Given the description of an element on the screen output the (x, y) to click on. 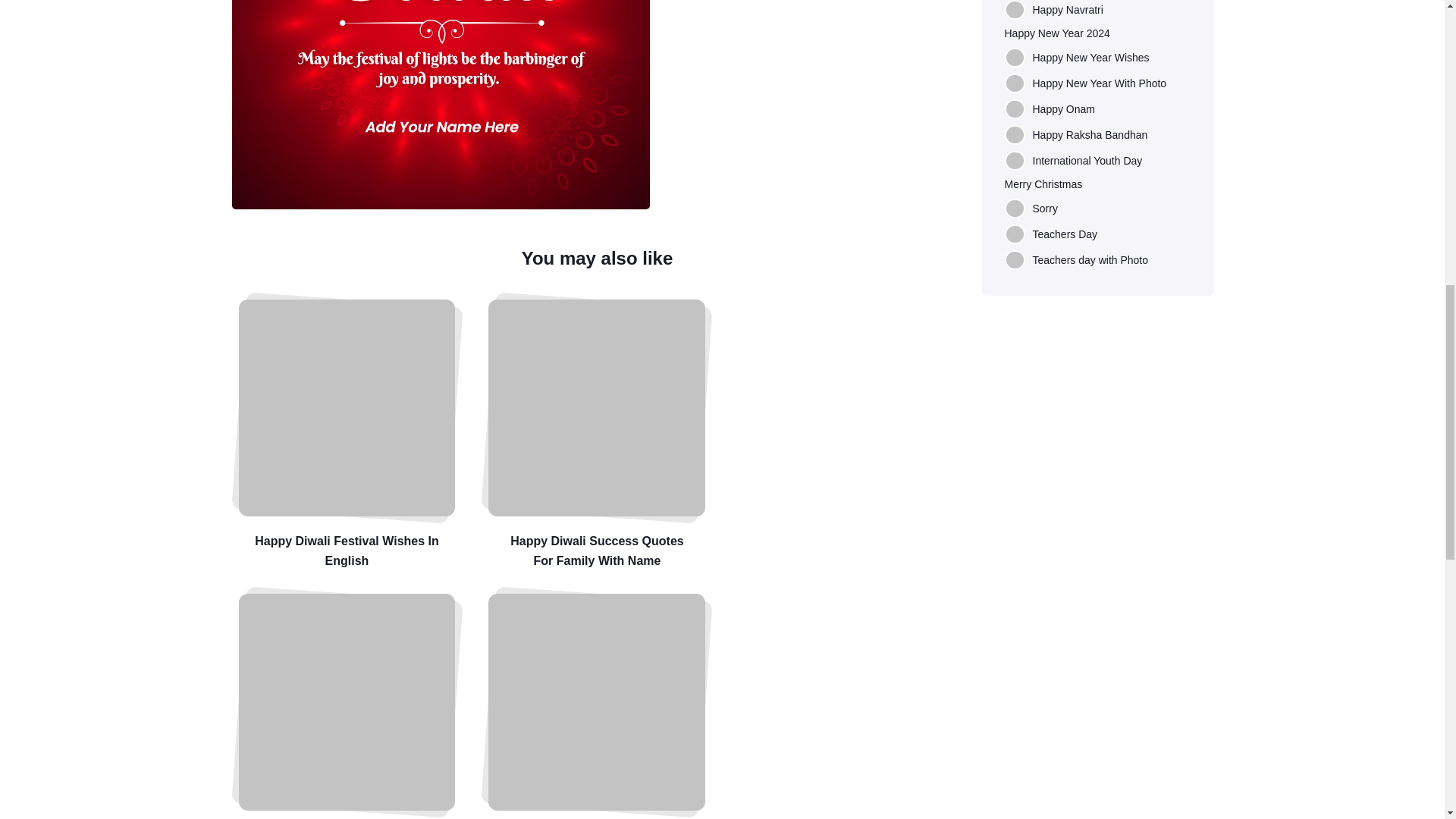
Easy Diwali Card Making With Name Online (595, 706)
Happy Diwali Success Quotes For Family With Name (595, 407)
2023 Shubh Deepavali Wishes In Hindi (346, 706)
Advertisement (815, 67)
Happy Diwali Festival Wishes In English (346, 407)
Happy Diwali Festival Wishes In English (346, 434)
2023 Shubh Deepavali Wishes In Hindi (346, 701)
Easy Diwali Card Making With Name Online (595, 701)
Happy Diwali Success Quotes For Family With Name (595, 434)
